Given the description of an element on the screen output the (x, y) to click on. 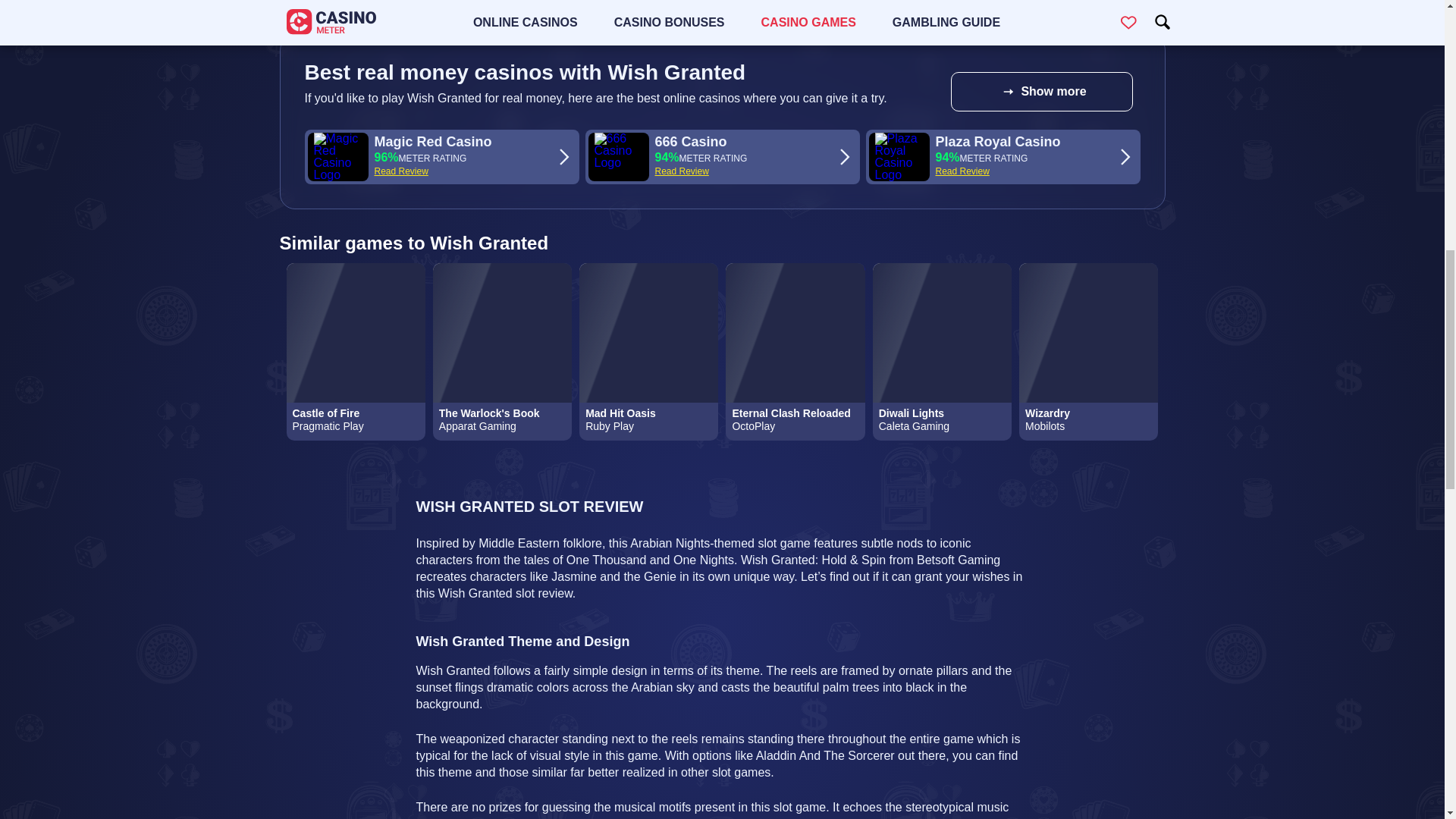
Read Review (401, 171)
Magic Red Casino (433, 141)
